Given the description of an element on the screen output the (x, y) to click on. 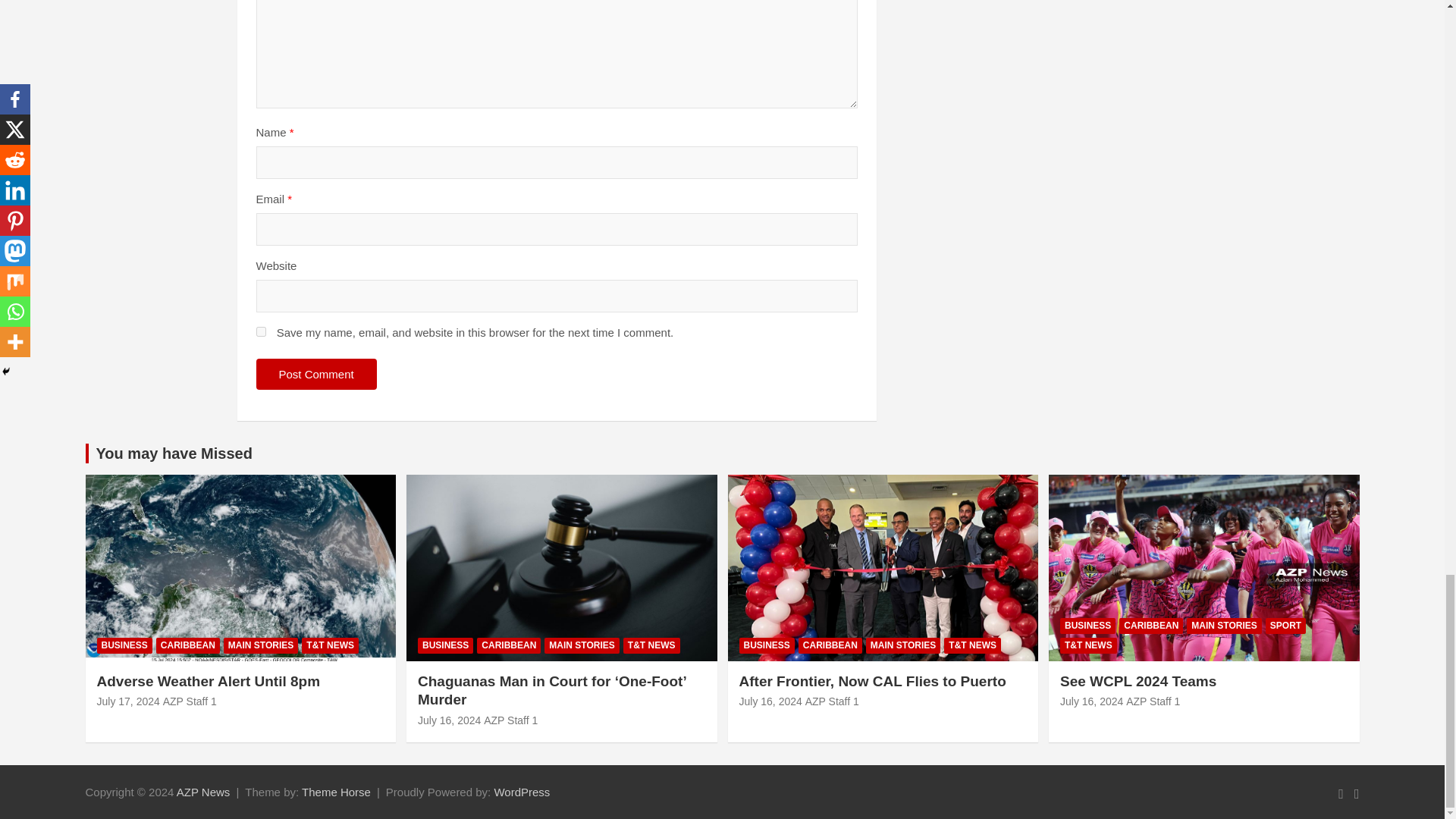
yes (261, 331)
Post Comment (316, 373)
